Given the description of an element on the screen output the (x, y) to click on. 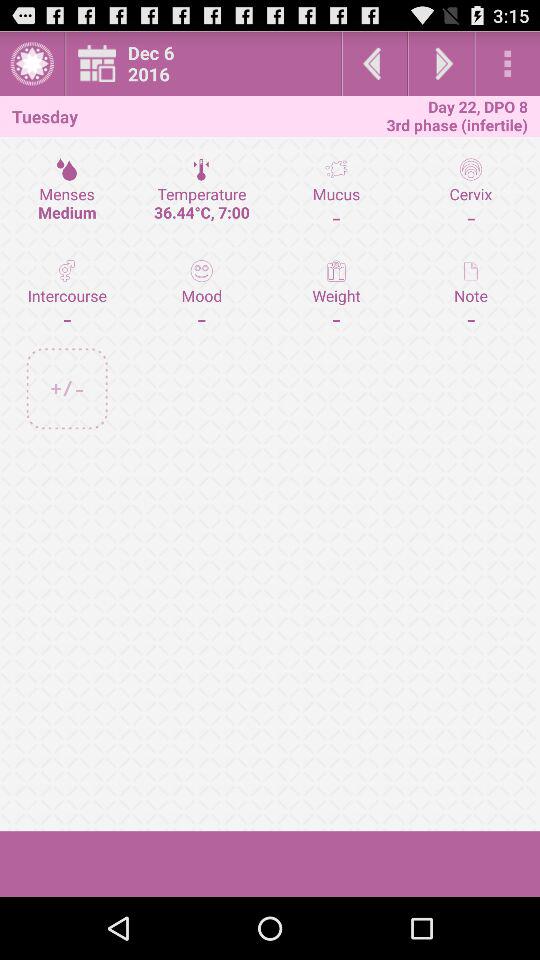
toggle menu (32, 63)
